Given the description of an element on the screen output the (x, y) to click on. 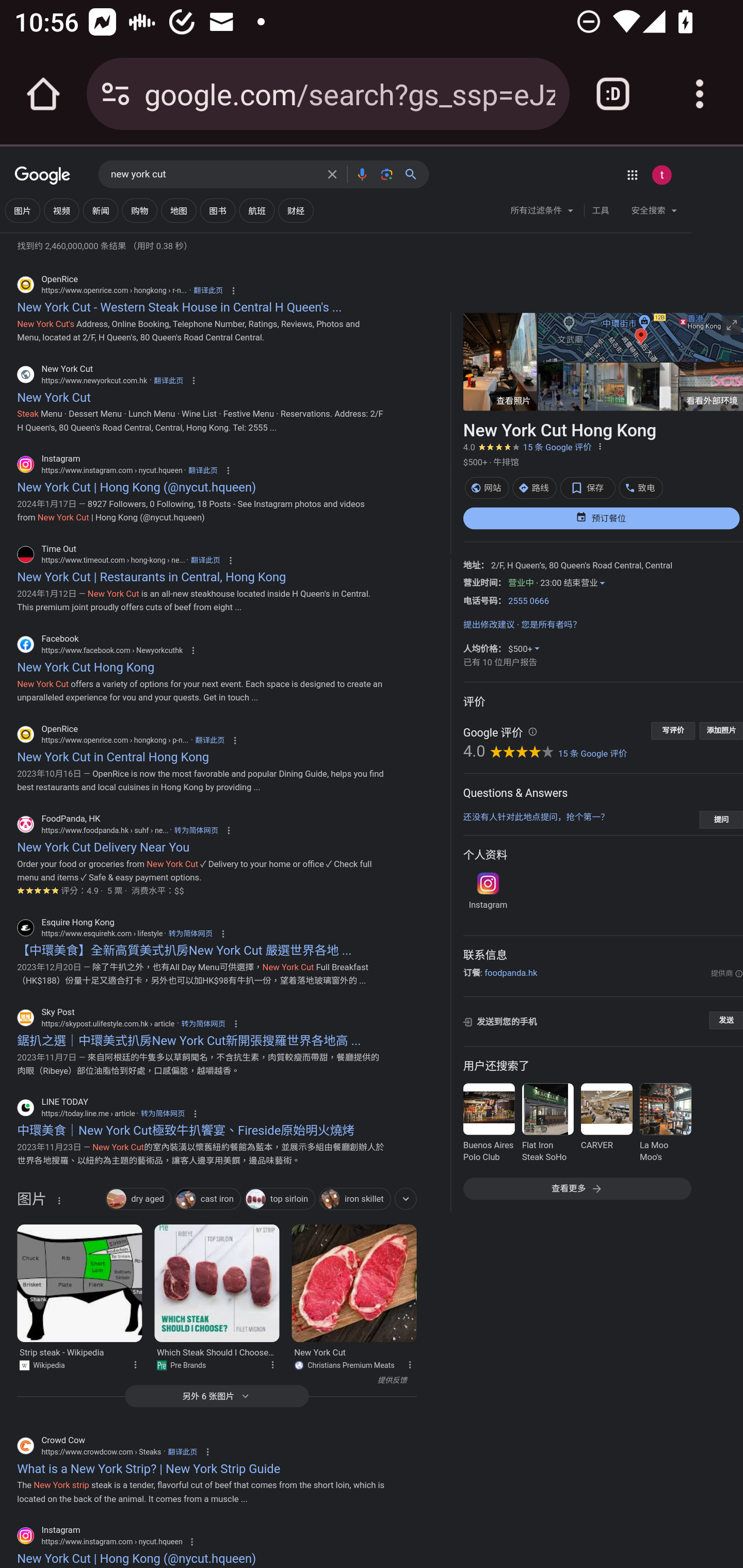
Open the home page (43, 93)
Connection is secure (115, 93)
Switch or close tabs (612, 93)
Customize and control Google Chrome (699, 93)
清除 (331, 173)
按语音搜索 (361, 173)
按图搜索 (386, 173)
搜索 (414, 173)
Google 应用 (632, 174)
Google 账号： test appium (testappium002@gmail.com) (661, 174)
Google (42, 176)
new york cut (213, 173)
图片 (22, 209)
视频 (61, 209)
新闻 (100, 209)
购物 (139, 209)
地图 (178, 209)
图书 (217, 209)
航班 (256, 209)
财经 (295, 209)
所有过滤条件 (542, 212)
工具 (600, 209)
安全搜索 (654, 212)
翻译此页 (208, 290)
查看照片 查看照片 (499, 361)
New York Cut Hong Kong地图 (640, 337)
看看外部环境 看看外部环境 看看外部环境 看看外部环境 (640, 386)
翻译此页 (168, 379)
更多选项 (599, 445)
15 条 Google 评价 (557, 446)
翻译此页 (202, 470)
网站 (486, 487)
路线 (534, 487)
保存到您的列表中 (587, 487)
致电 (639, 487)
预订餐位 (600, 517)
翻译此页 (205, 560)
地址 (471, 564)
营业中 ⋅ 23:00 结束营业 (555, 582)
营业时间 (479, 582)
拨打电话 2555 0666 (528, 600)
提出修改建议 (488, 624)
您是所有者吗？ (550, 624)
人均价格： $500+ 已有 10 位用户报告 (500, 656)
写评价 (672, 730)
添加照片 (721, 730)
更多信息 (532, 732)
翻译此页 (209, 740)
15 条 Google 评价 (592, 752)
提问 (721, 818)
还没有人针对此地点提问，抢个第一？ (535, 816)
转为简体网页 (195, 829)
Instagram (487, 891)
转为简体网页 (190, 933)
关于这些提供商 (726, 973)
foodpanda.hk (510, 972)
发送 (725, 1020)
转为简体网页 (203, 1023)
Buenos Aires Polo Club (488, 1124)
Flat Iron Steak SoHo (546, 1124)
CARVER (606, 1124)
La Moo Moo's (664, 1124)
转为简体网页 (162, 1113)
查看更多 查看更多 查看更多 (576, 1188)
图片 (31, 1202)
dry aged (138, 1200)
cast iron (207, 1200)
top sirloin (279, 1200)
iron skillet (354, 1200)
按功能过滤 (405, 1198)
关于这条结果的详细信息 (58, 1199)
Strip steak - Wikipedia (79, 1282)
Which Steak Should I Choose? - Pre (216, 1282)
New York Cut (353, 1282)
关于这条结果的详细信息 (134, 1363)
关于这条结果的详细信息 (271, 1363)
关于这条结果的详细信息 (409, 1363)
另外 6 张图片 (216, 1396)
翻译此页 (182, 1451)
